Given the description of an element on the screen output the (x, y) to click on. 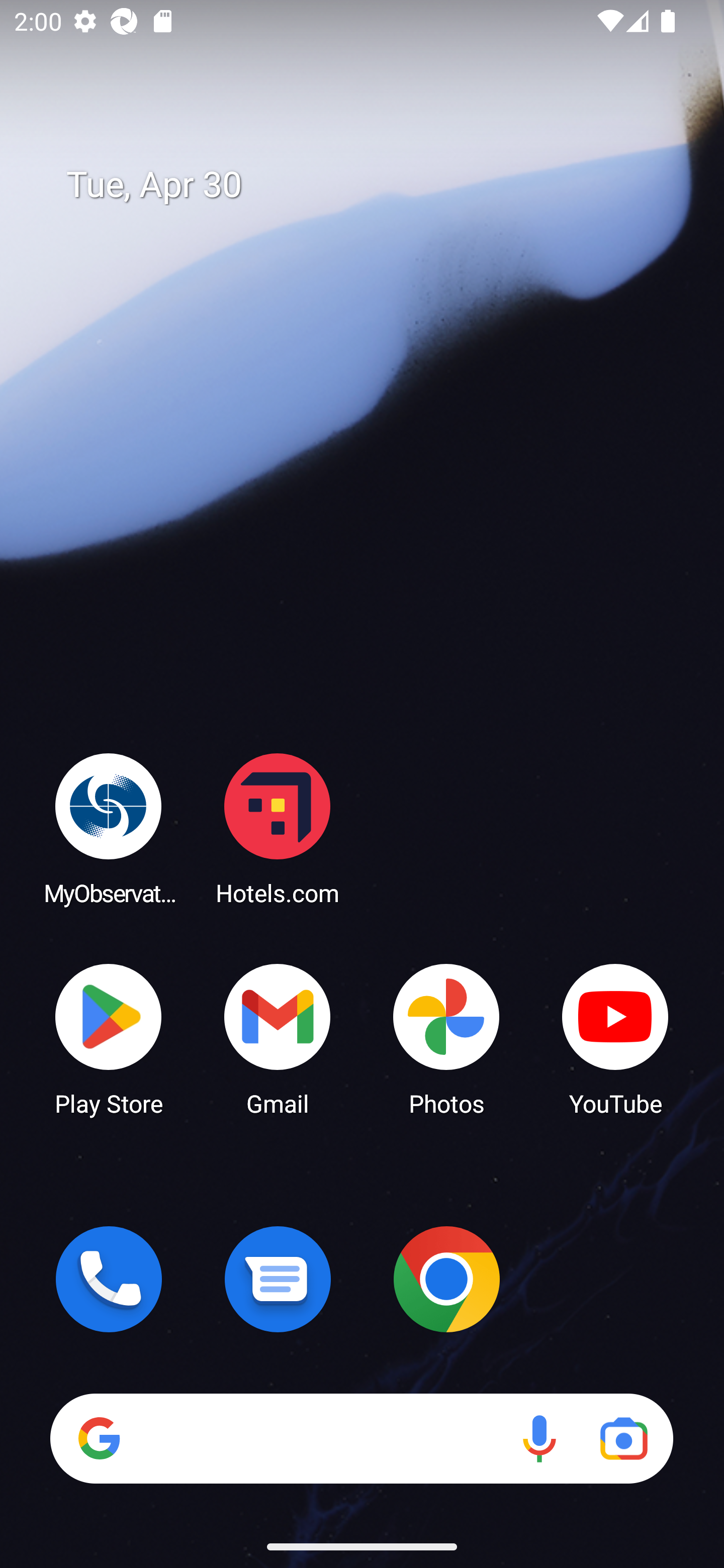
Tue, Apr 30 (375, 184)
MyObservatory (108, 828)
Hotels.com (277, 828)
Play Store (108, 1038)
Gmail (277, 1038)
Photos (445, 1038)
YouTube (615, 1038)
Phone (108, 1279)
Messages (277, 1279)
Chrome (446, 1279)
Voice search (539, 1438)
Google Lens (623, 1438)
